Given the description of an element on the screen output the (x, y) to click on. 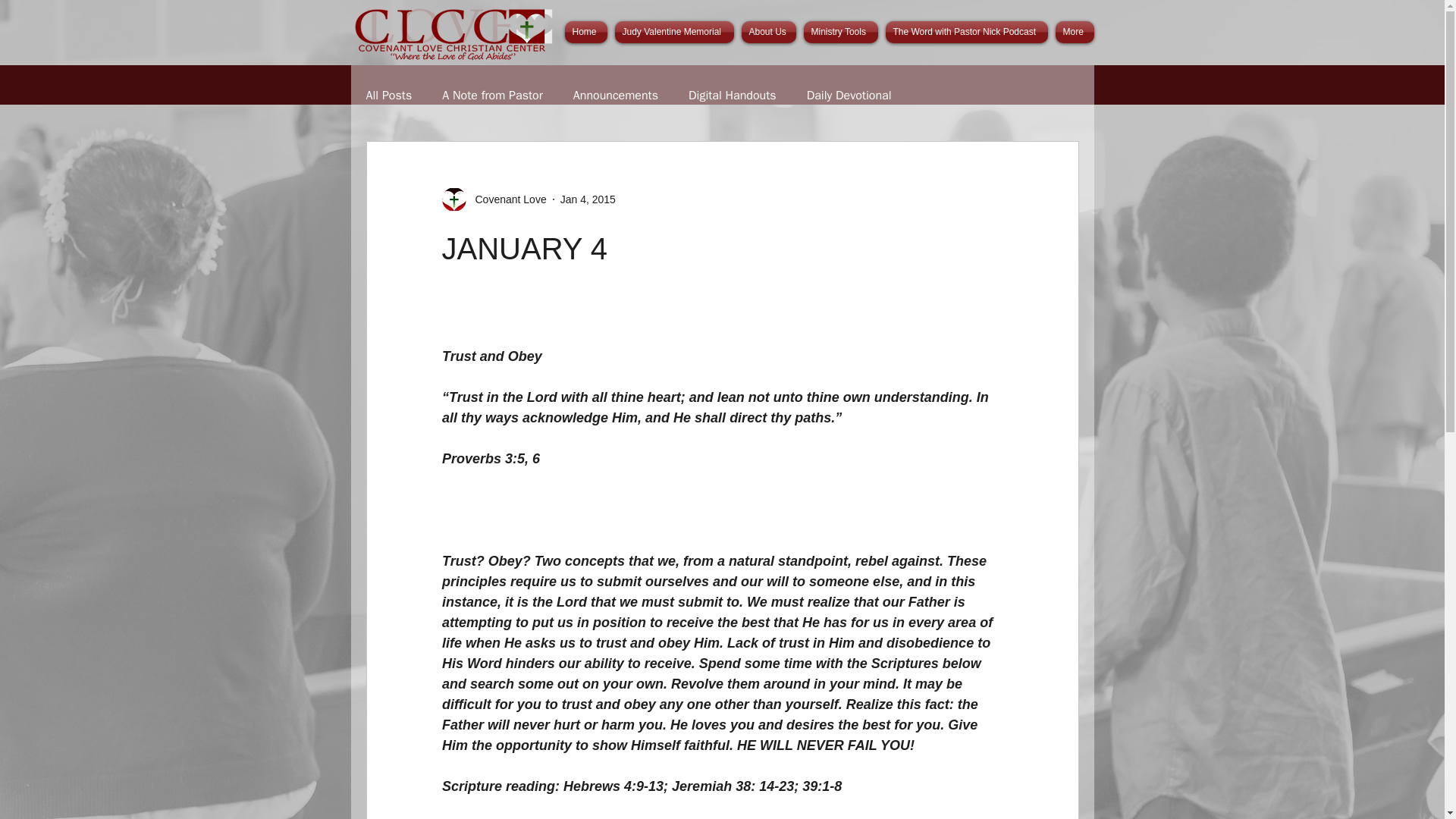
Covenant Love (493, 199)
Daily Devotional (848, 95)
Digital Handouts (732, 95)
Home (587, 32)
A Note from Pastor (492, 95)
Judy Valentine Memorial (674, 32)
Announcements (615, 95)
Covenant Love (505, 198)
Jan 4, 2015 (587, 198)
The Word with Pastor Nick Podcast (965, 32)
